Given the description of an element on the screen output the (x, y) to click on. 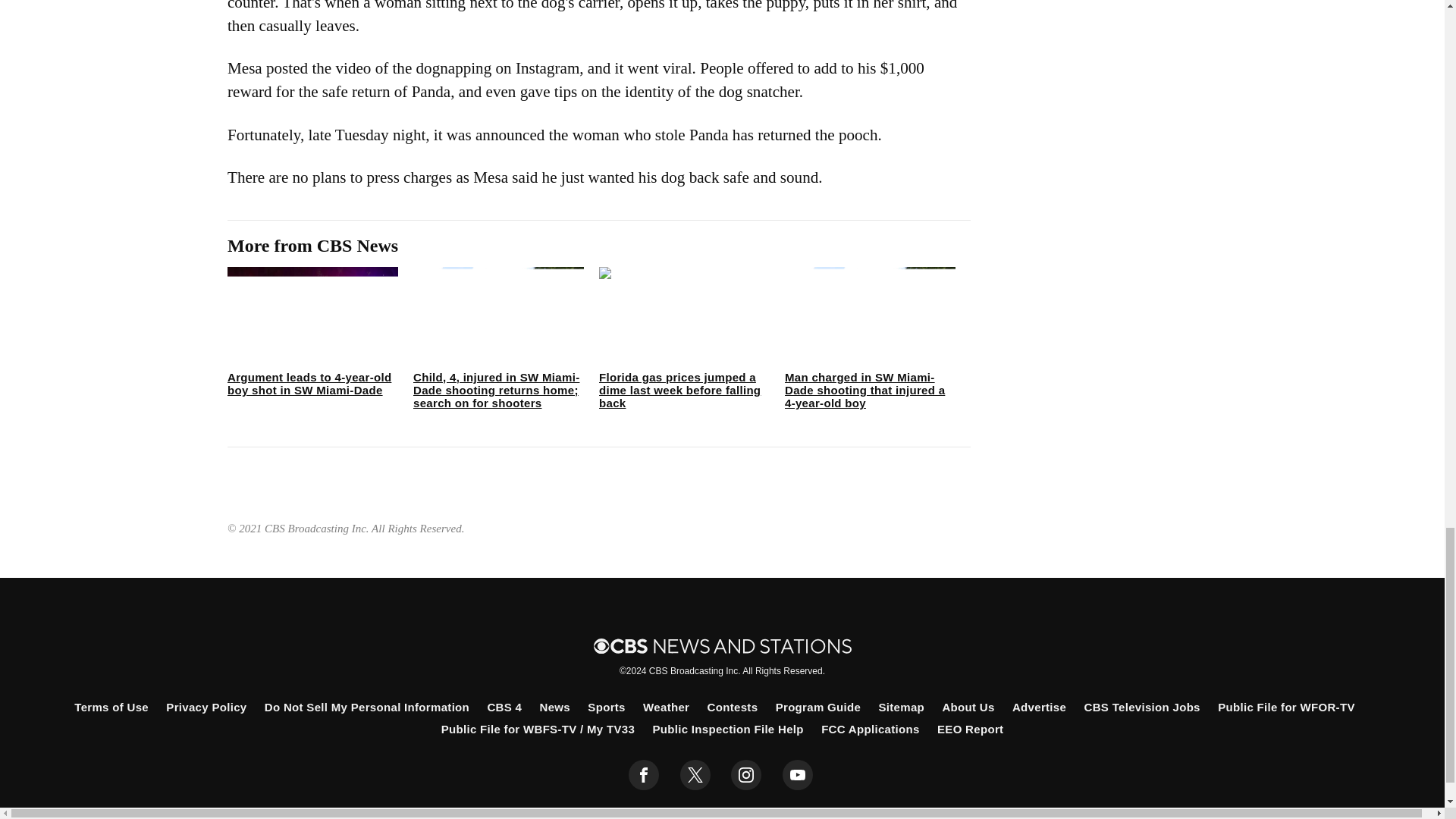
youtube (797, 775)
instagram (745, 775)
twitter (694, 775)
facebook (643, 775)
